Given the description of an element on the screen output the (x, y) to click on. 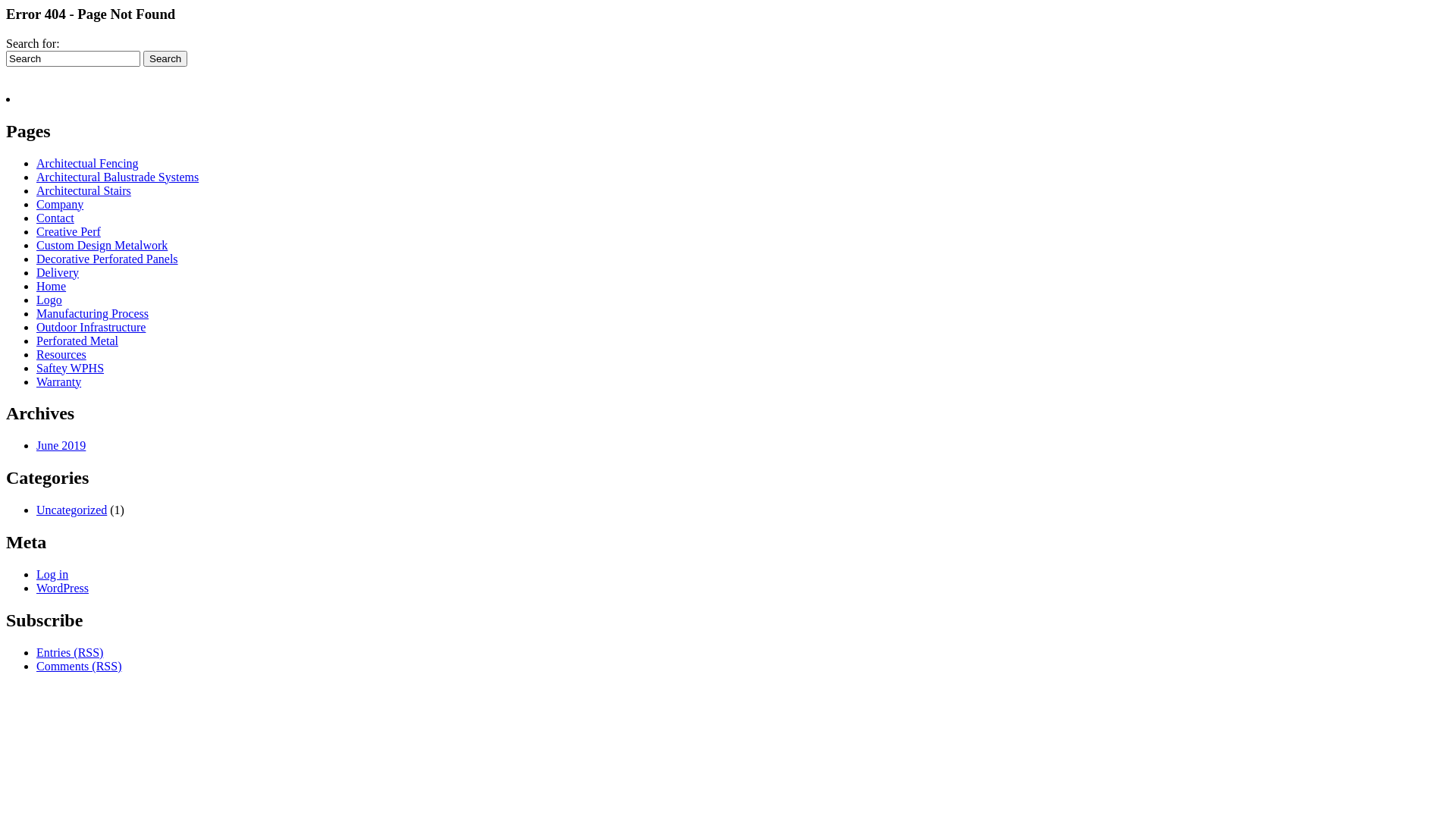
Contact Element type: text (55, 217)
Custom Design Metalwork Element type: text (101, 244)
Warranty Element type: text (58, 381)
WordPress Element type: text (62, 587)
Log in Element type: text (52, 573)
Architectural Balustrade Systems Element type: text (117, 176)
Creative Perf Element type: text (68, 231)
Architectual Fencing Element type: text (87, 162)
Delivery Element type: text (57, 272)
Architectural Stairs Element type: text (83, 190)
Decorative Perforated Panels Element type: text (107, 258)
Resources Element type: text (61, 354)
Entries (RSS) Element type: text (69, 652)
Comments (RSS) Element type: text (78, 665)
Search Element type: text (165, 58)
June 2019 Element type: text (60, 445)
Home Element type: text (50, 285)
Saftey WPHS Element type: text (69, 367)
Outdoor Infrastructure Element type: text (90, 326)
Logo Element type: text (49, 299)
Manufacturing Process Element type: text (92, 313)
Uncategorized Element type: text (71, 509)
Perforated Metal Element type: text (77, 340)
Company Element type: text (59, 203)
